Given the description of an element on the screen output the (x, y) to click on. 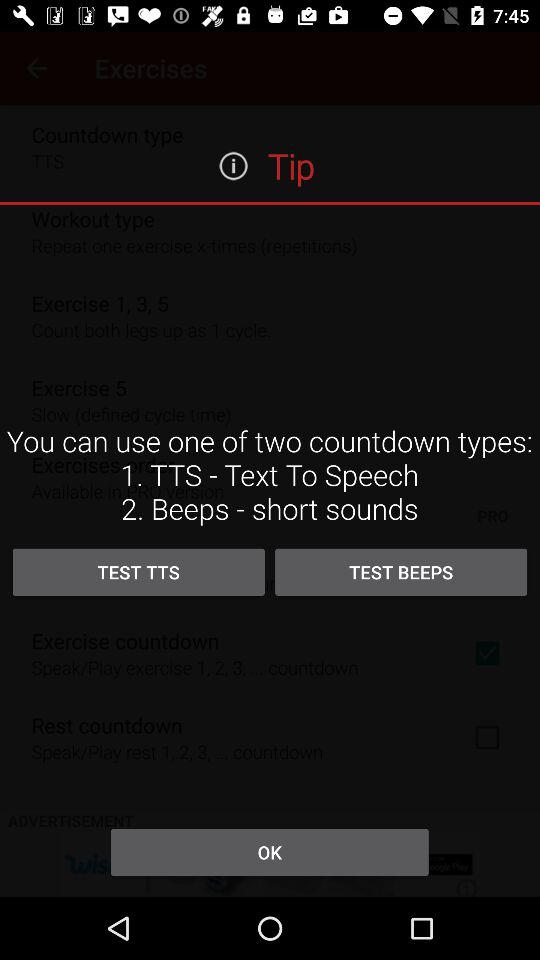
tap test tts icon (138, 571)
